Given the description of an element on the screen output the (x, y) to click on. 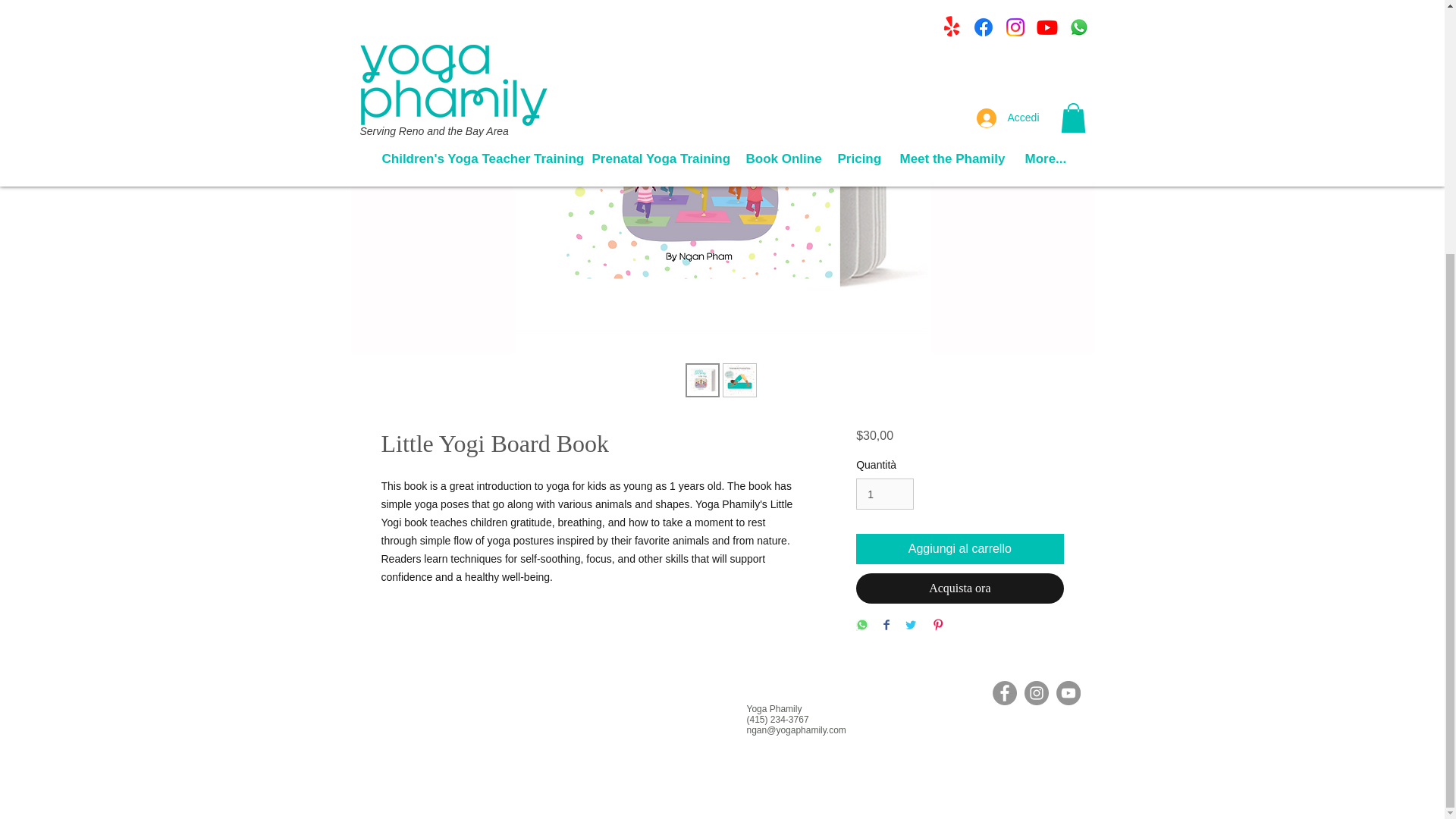
1 (885, 493)
Aggiungi al carrello (959, 548)
Acquista ora (959, 588)
